Given the description of an element on the screen output the (x, y) to click on. 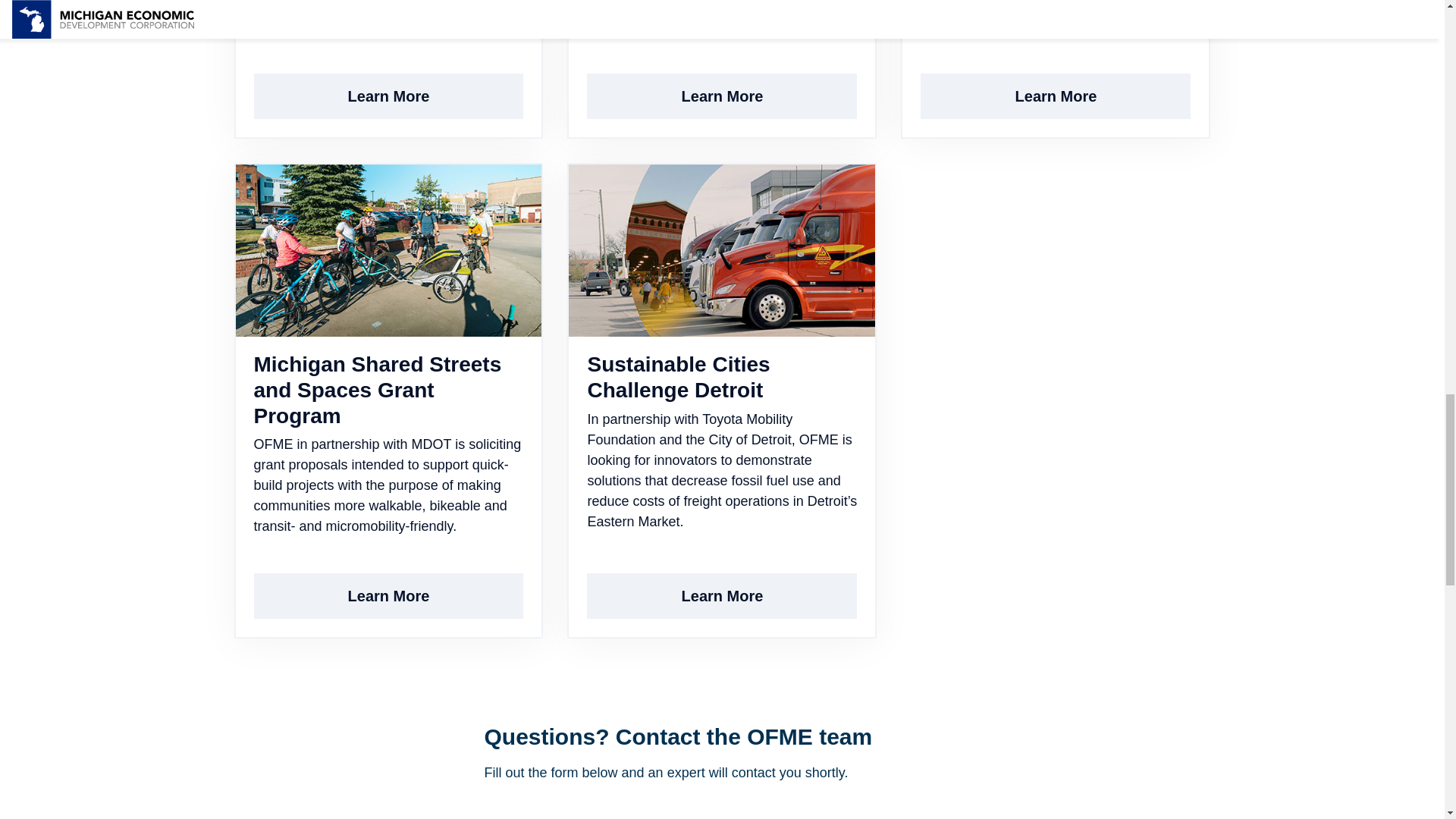
Learn More (1055, 95)
Learn More (387, 95)
Learn More (721, 95)
Learn More (387, 596)
